Given the description of an element on the screen output the (x, y) to click on. 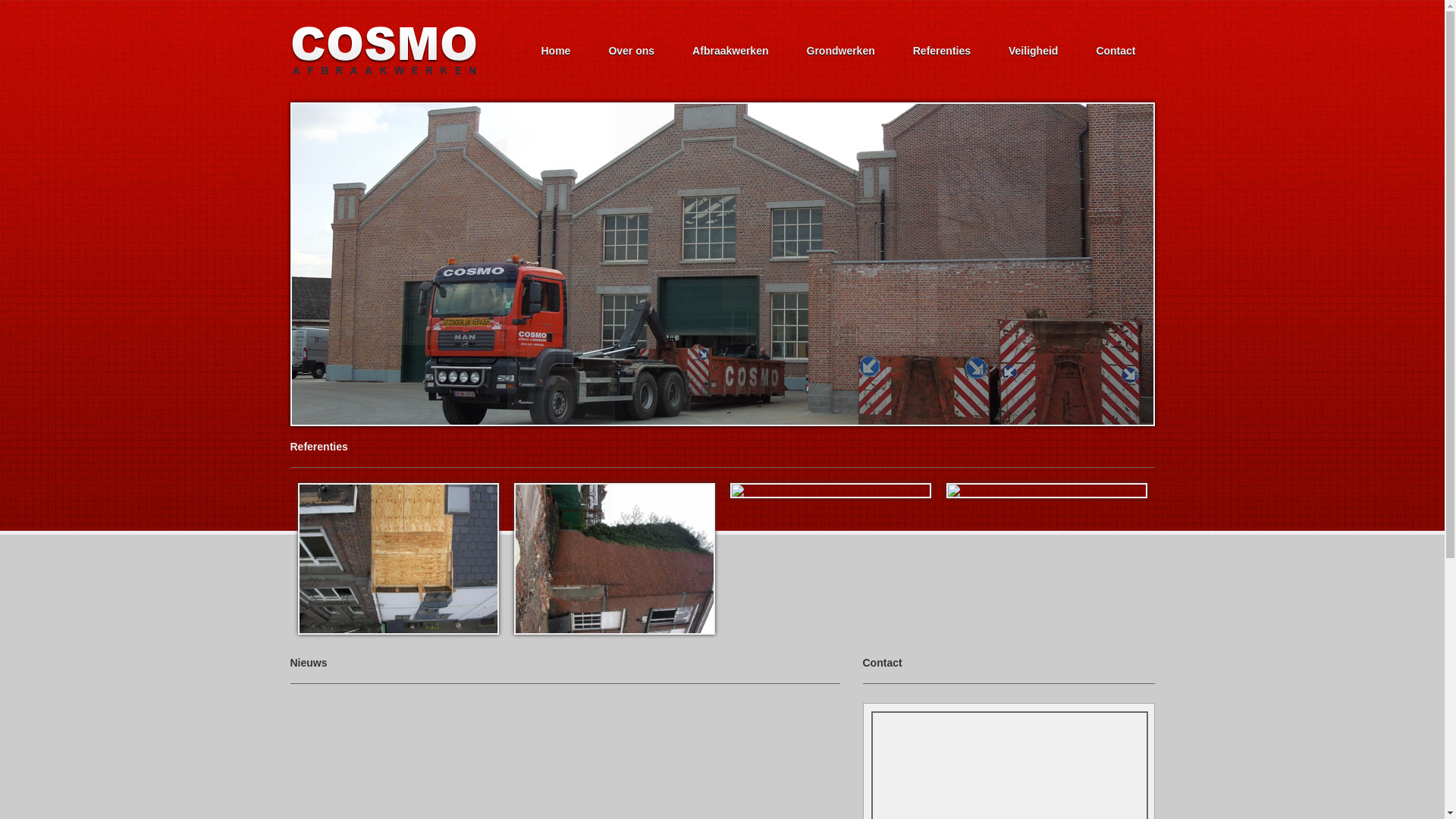
Grondwerken Element type: text (840, 50)
Home Element type: text (555, 50)
Contact Element type: text (1115, 50)
Afbraakwerken Element type: text (730, 50)
Over ons Element type: text (631, 50)
Cosmo Afbraakwerken | Dendermonde Element type: hover (382, 50)
Referenties Element type: text (941, 50)
Veiligheid Element type: text (1032, 50)
